Given the description of an element on the screen output the (x, y) to click on. 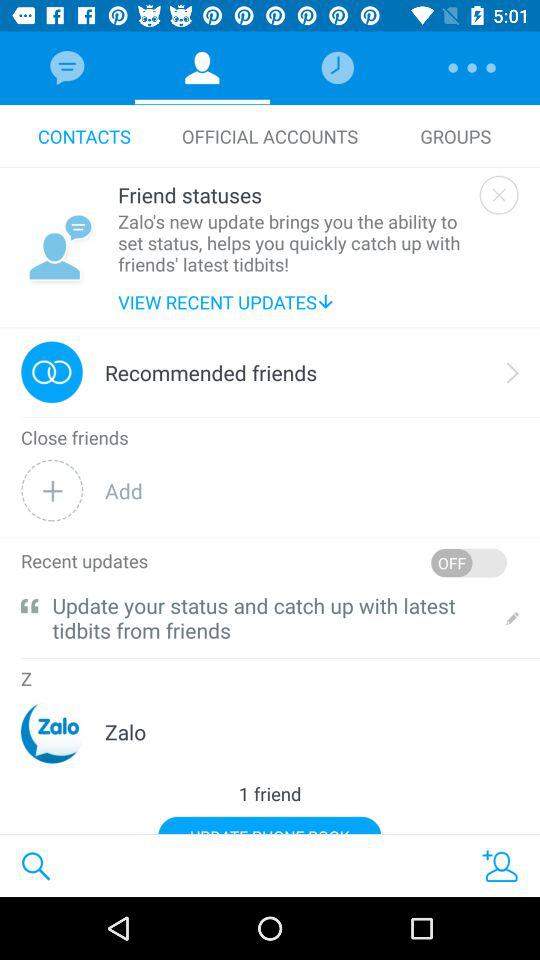
open the recommended friends (211, 372)
